Given the description of an element on the screen output the (x, y) to click on. 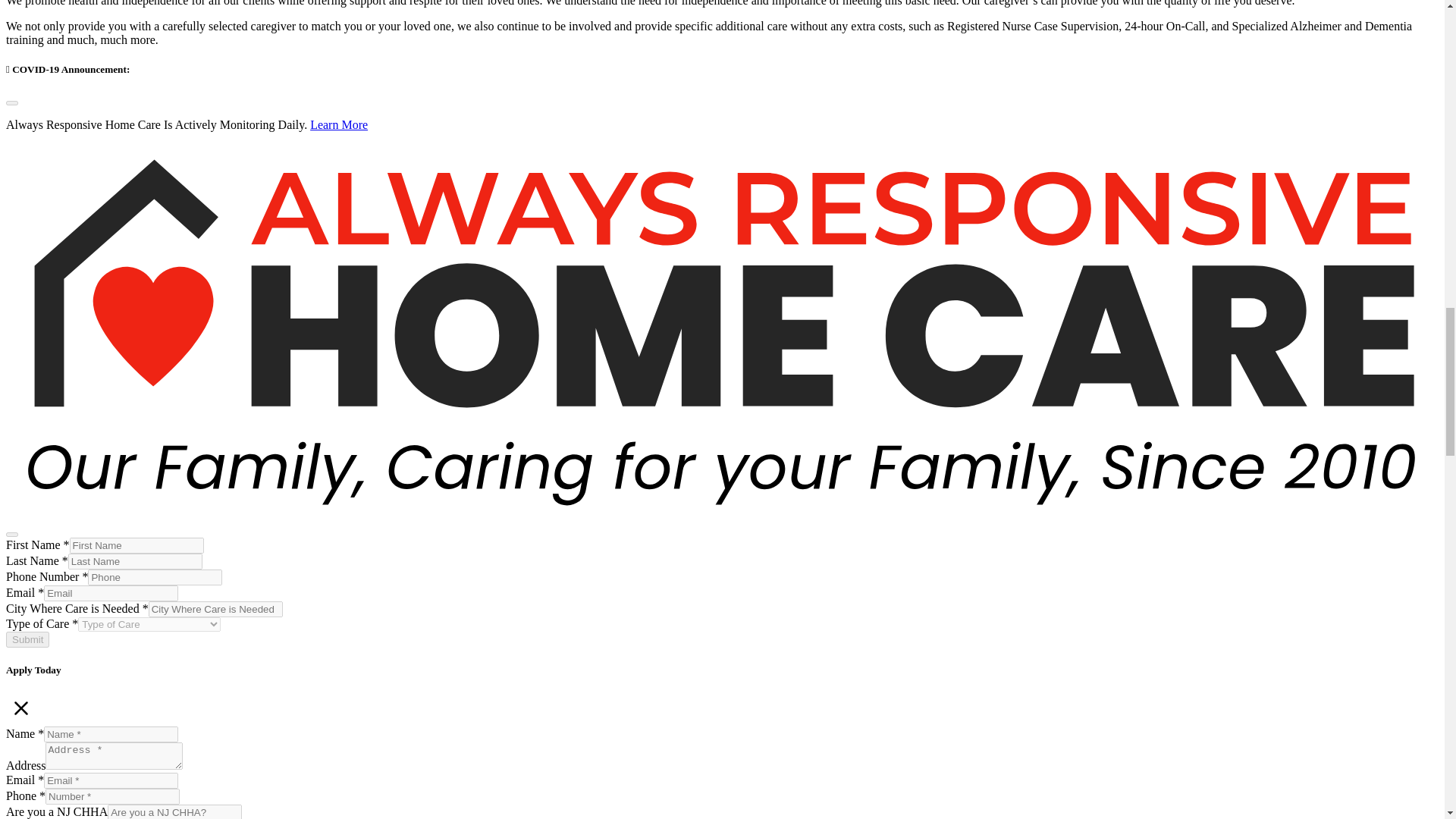
Learn More (339, 124)
Submit (27, 639)
